Given the description of an element on the screen output the (x, y) to click on. 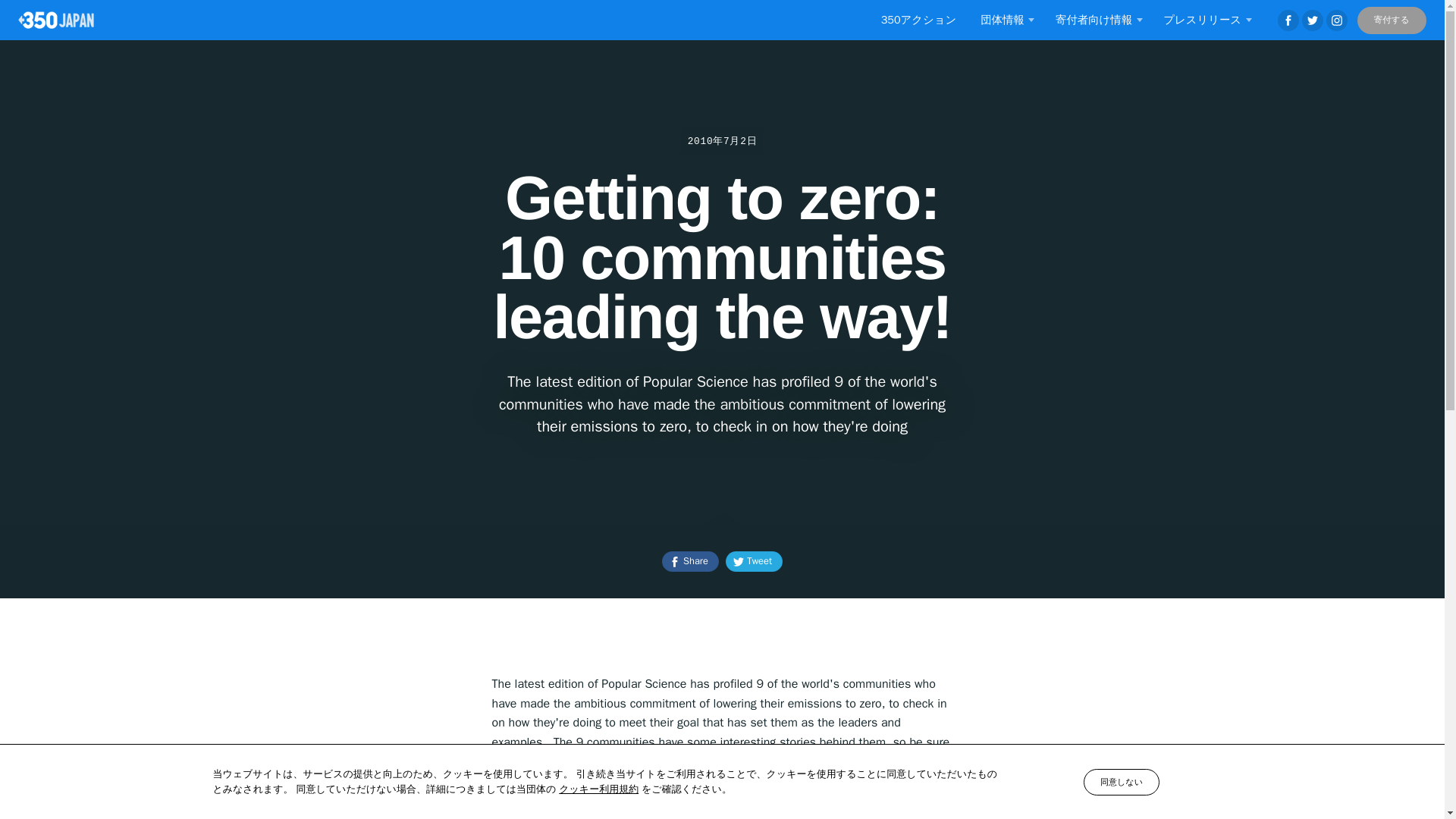
Share (689, 561)
Facebook (1288, 20)
Tweet (753, 561)
click through (539, 761)
Instagram (1337, 20)
Twitter (1312, 20)
